Given the description of an element on the screen output the (x, y) to click on. 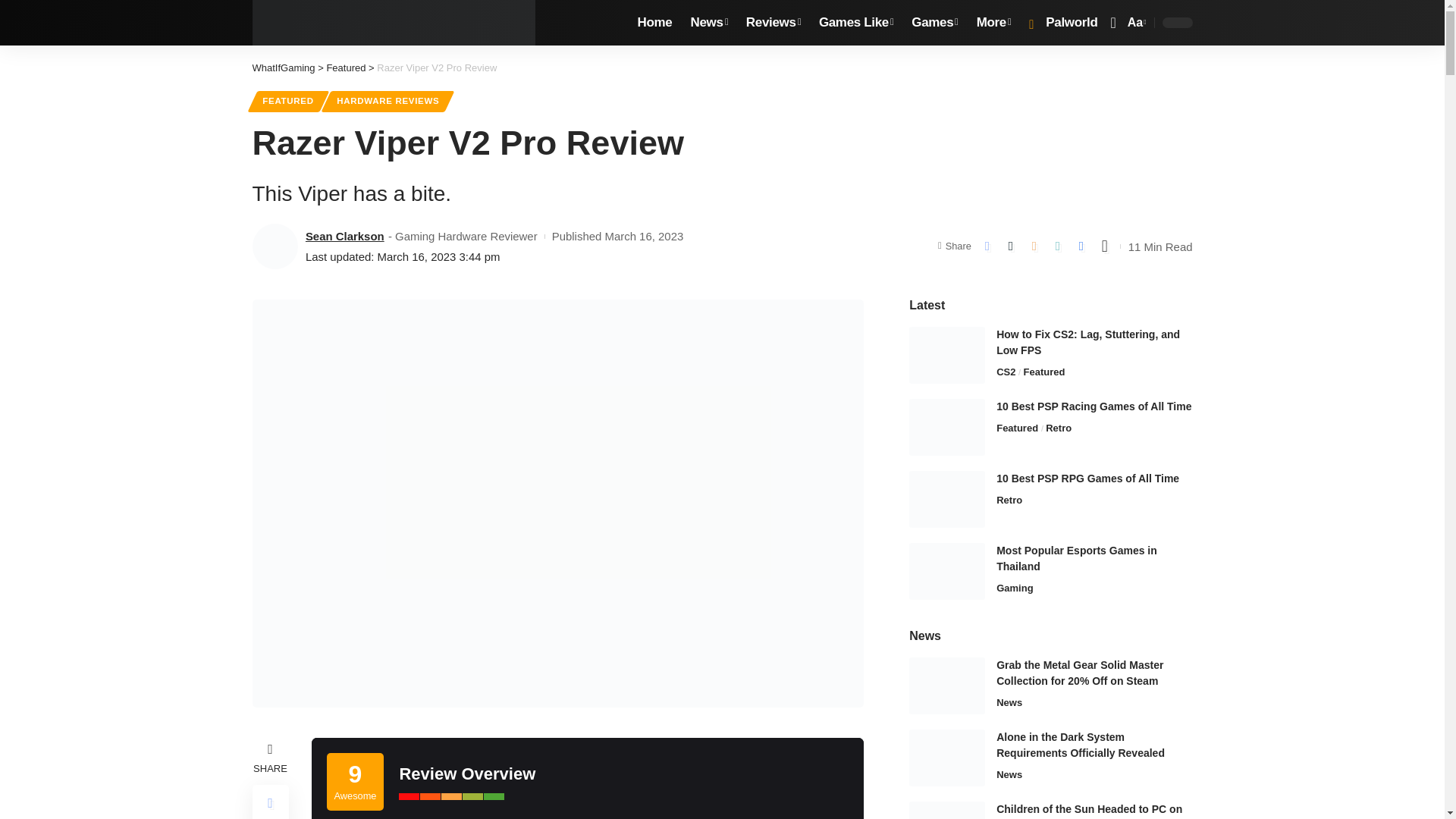
News (708, 22)
10 Best PSP Racing Games of All Time (946, 426)
Games Like (855, 22)
How to Fix CS2: Lag, Stuttering, and Low FPS (946, 355)
Games (934, 22)
Go to the Featured Category archives. (345, 67)
Home (654, 22)
Go to WhatIfGaming. (282, 67)
WhatIfGaming (393, 22)
Reviews (772, 22)
